Given the description of an element on the screen output the (x, y) to click on. 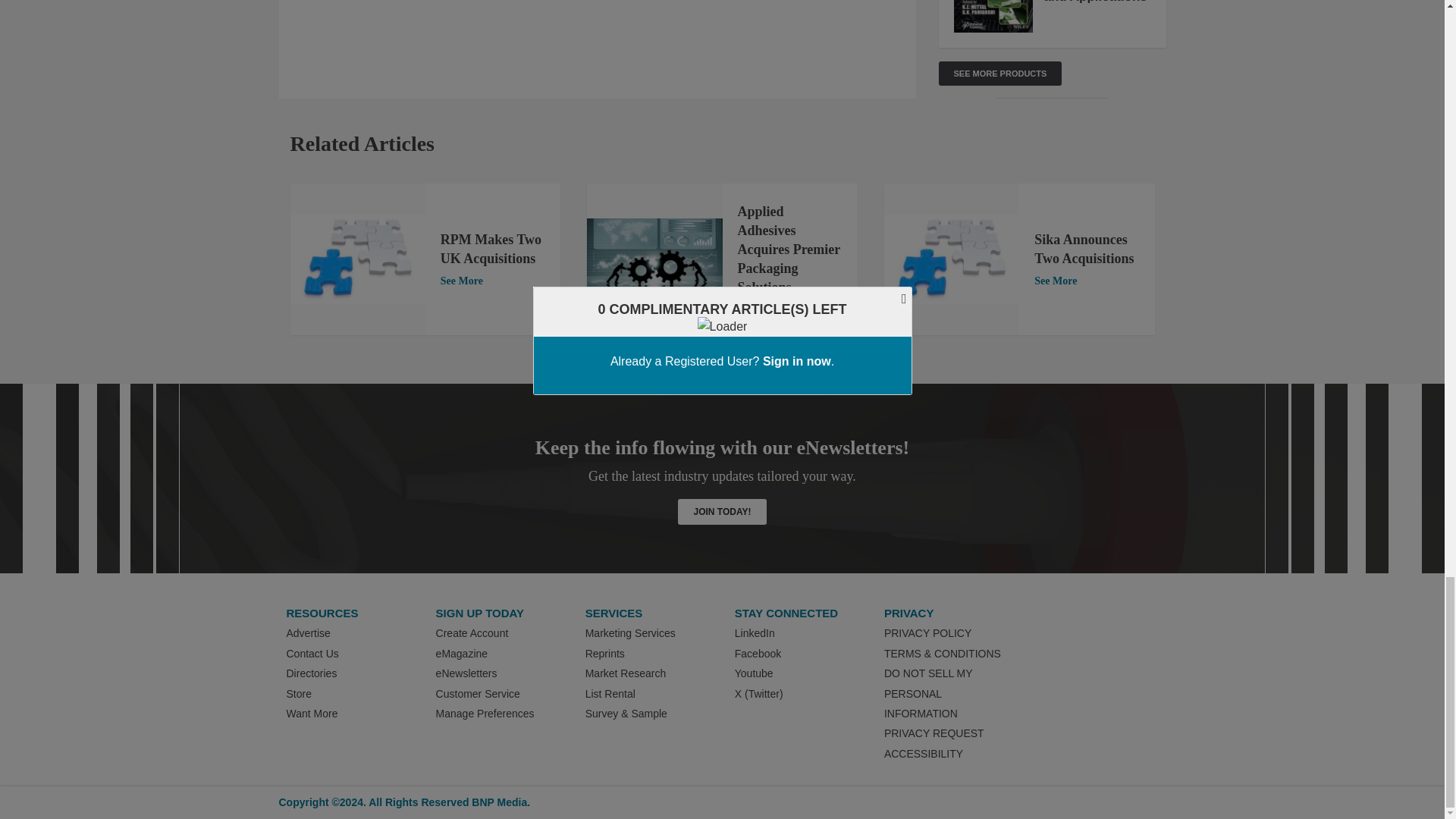
Mergers.jpg (357, 259)
Mergers.jpg (951, 259)
